Given the description of an element on the screen output the (x, y) to click on. 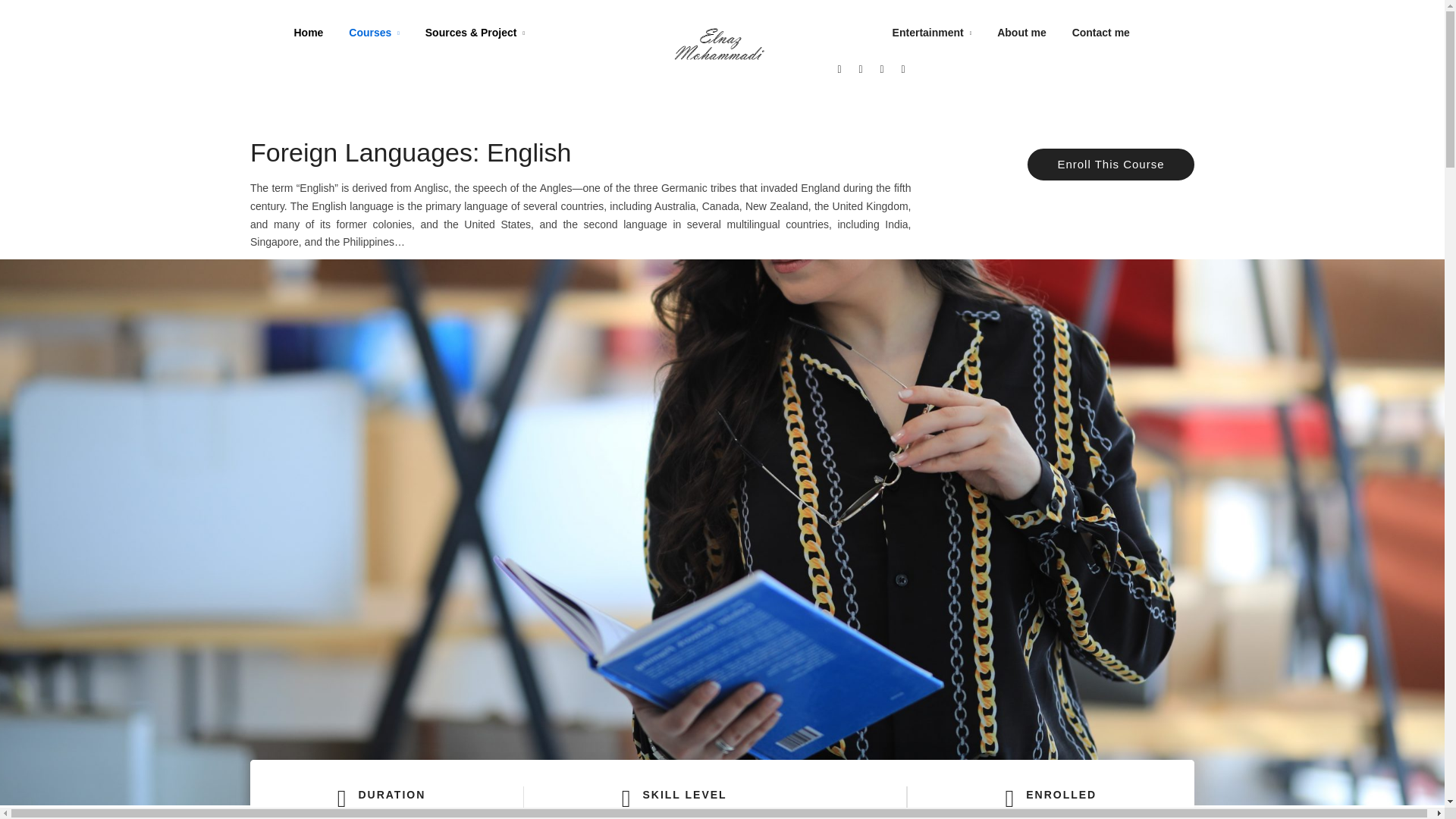
Subscribe (1025, 340)
